Given the description of an element on the screen output the (x, y) to click on. 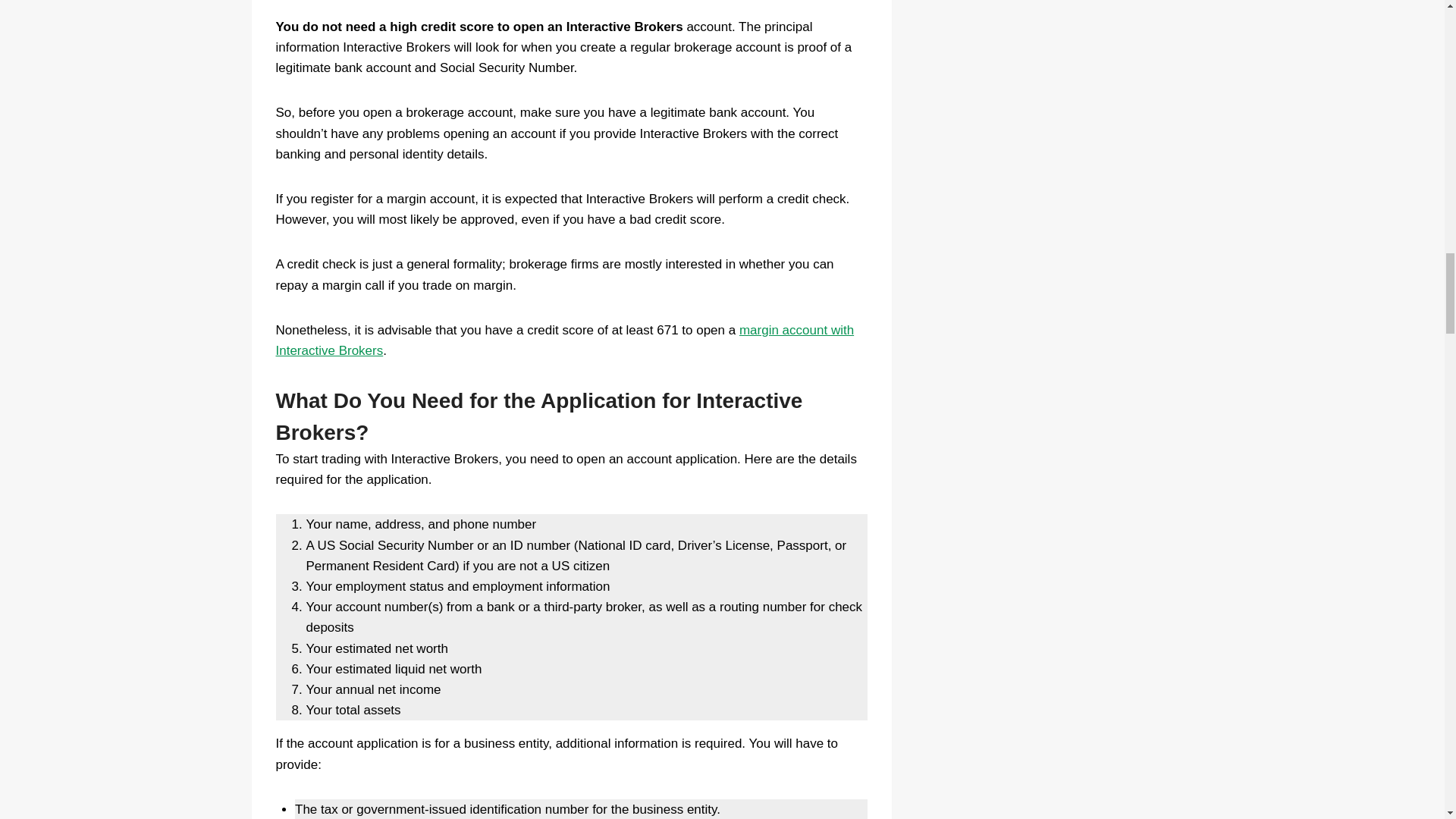
margin account with Interactive Brokers (565, 339)
